Given the description of an element on the screen output the (x, y) to click on. 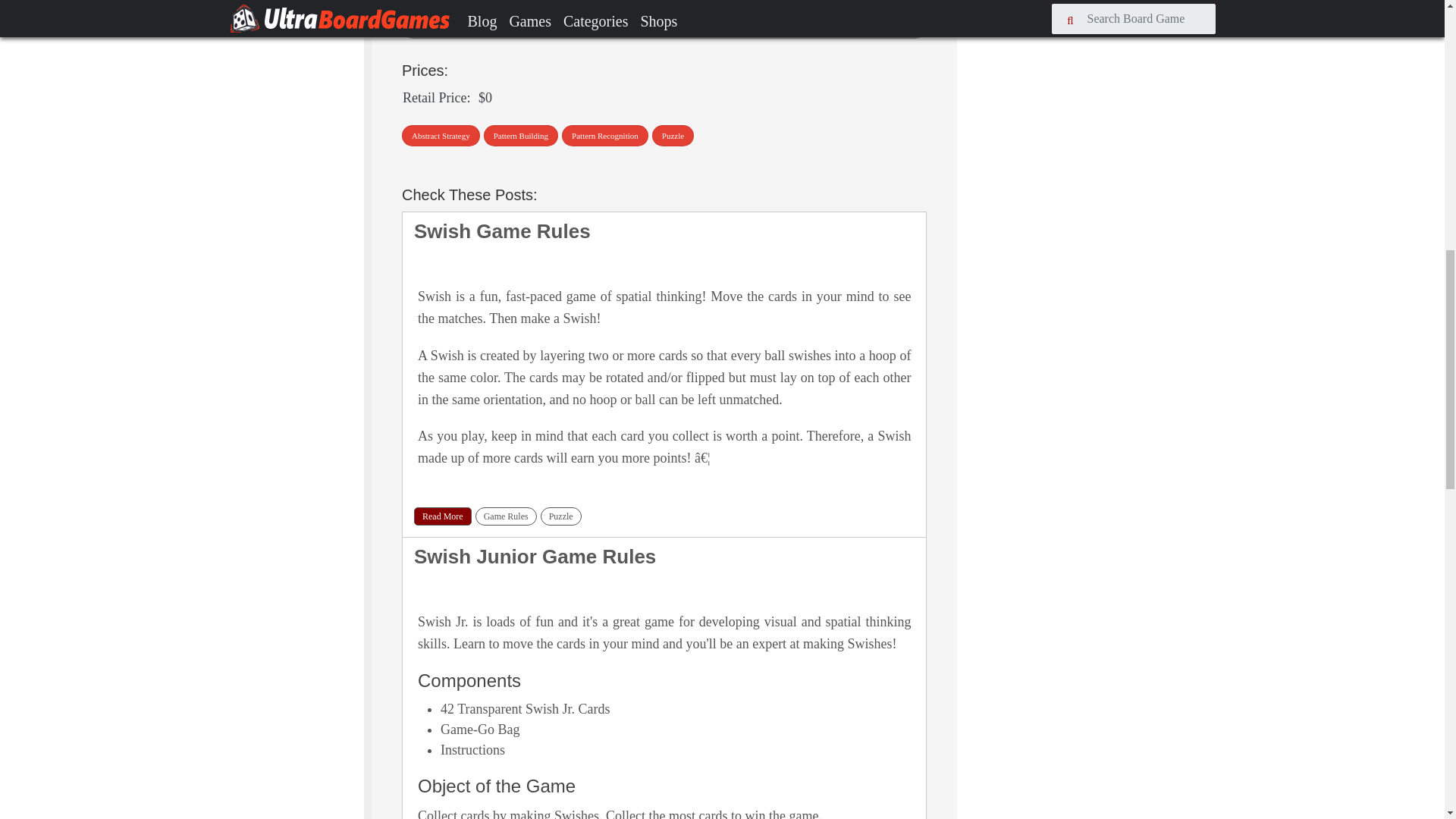
Abstract Strategy (440, 136)
Game Rules (506, 515)
Read More (442, 515)
Pattern Recognition (604, 136)
Puzzle (673, 136)
Puzzle (560, 515)
Pattern Building (520, 136)
